Given the description of an element on the screen output the (x, y) to click on. 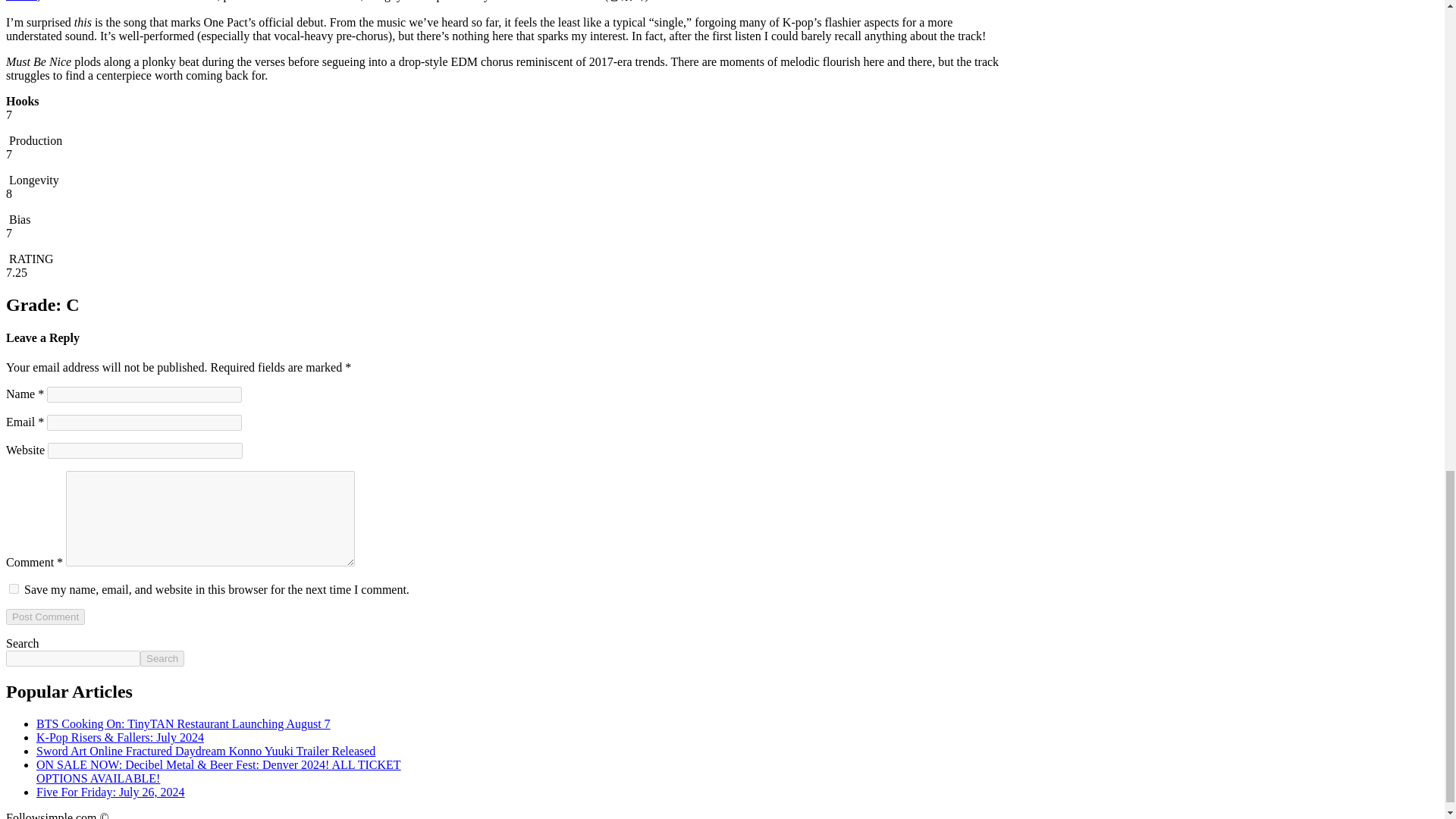
BTS Cooking On: TinyTAN Restaurant Launching August 7 (183, 723)
Post Comment (44, 616)
Five For Friday: July 26, 2024 (110, 791)
yes (13, 588)
Post Comment (44, 616)
Search (161, 658)
